Given the description of an element on the screen output the (x, y) to click on. 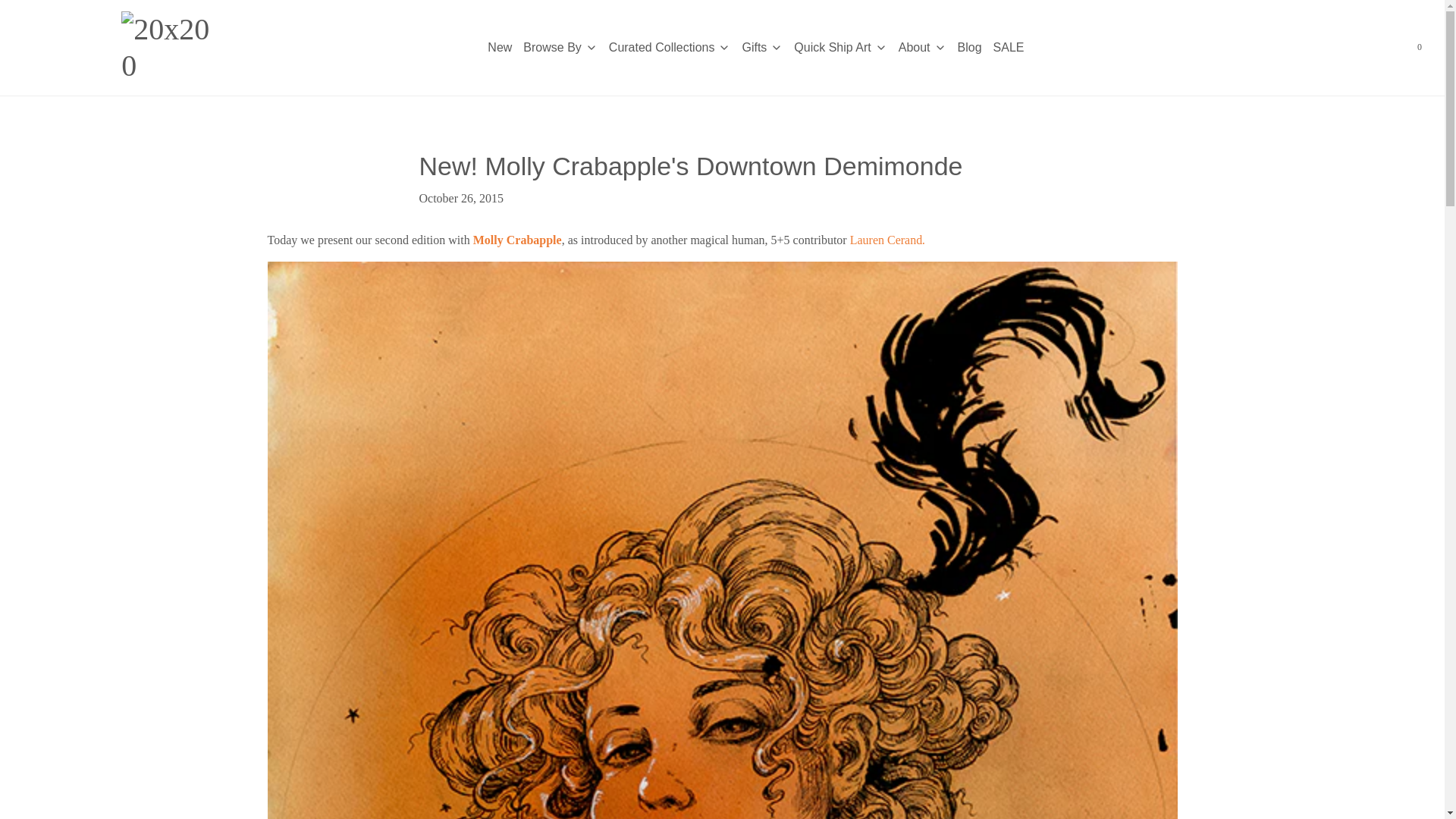
New (499, 47)
Browse By (559, 47)
